Given the description of an element on the screen output the (x, y) to click on. 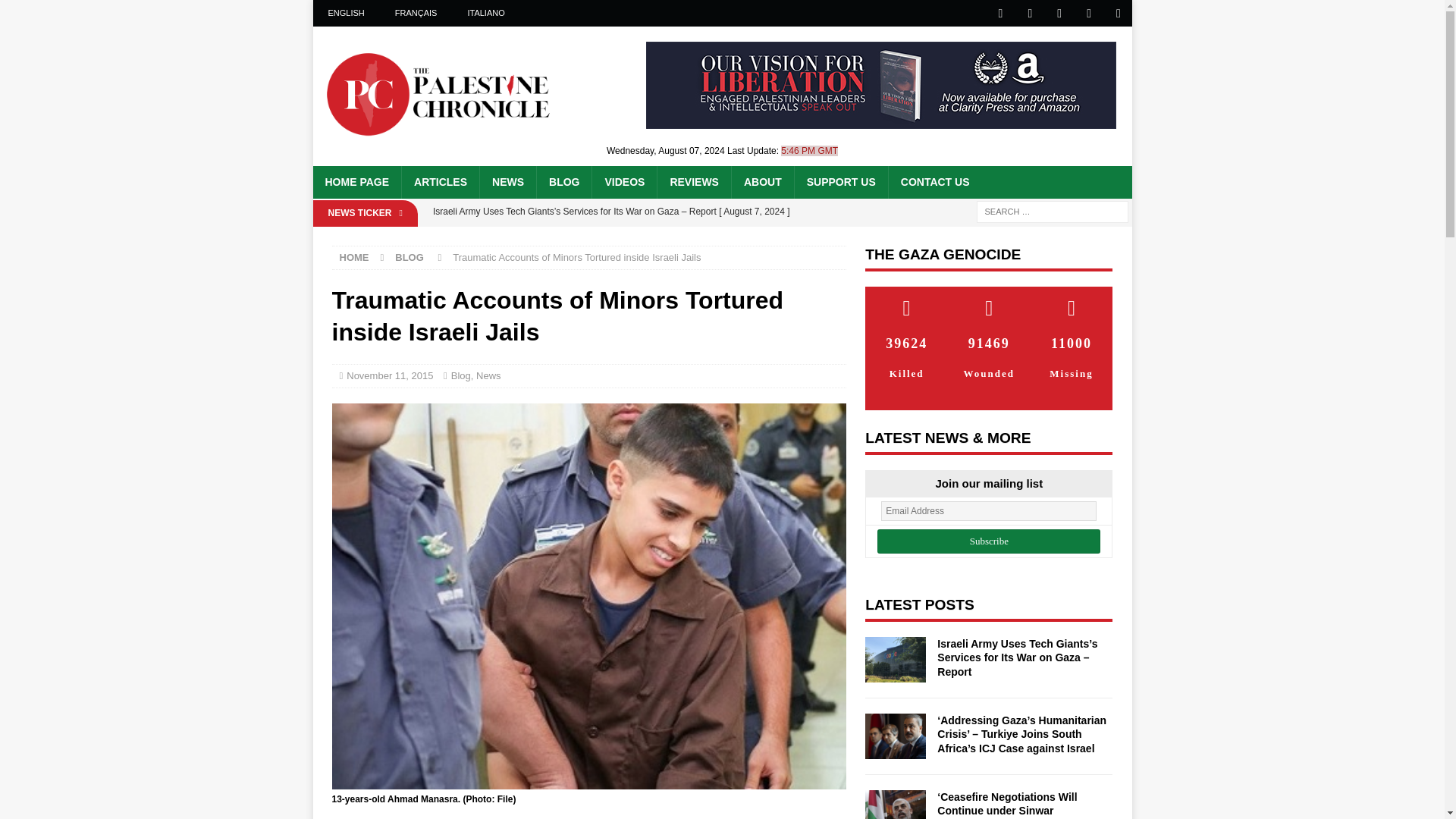
ABOUT (761, 182)
SUPPORT US (840, 182)
VIDEOS (623, 182)
BLOG (563, 182)
ARTICLES (440, 182)
CONTACT US (934, 182)
HOME PAGE (357, 182)
HOME (354, 256)
REVIEWS (693, 182)
